Given the description of an element on the screen output the (x, y) to click on. 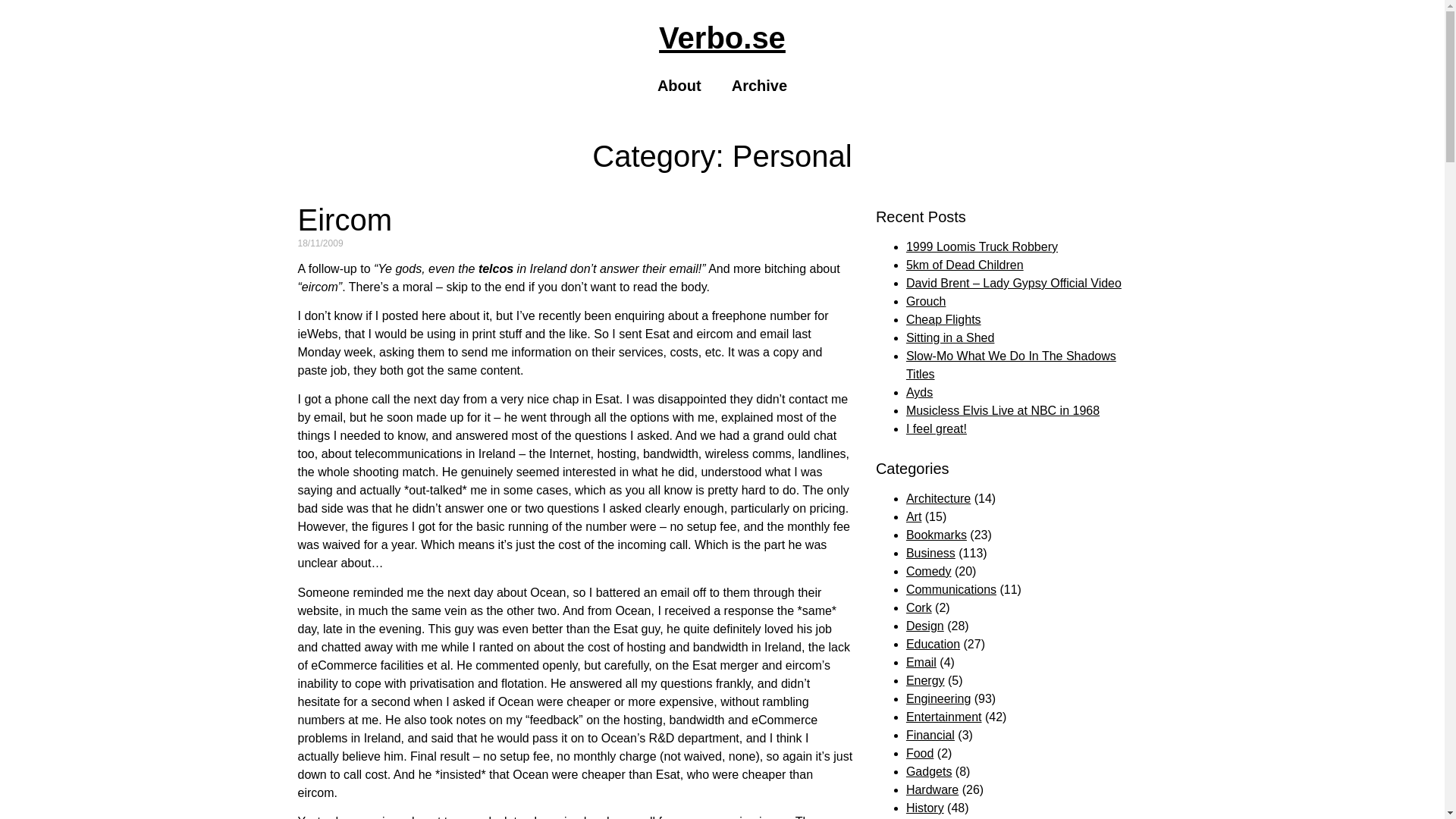
Eircom (344, 219)
5km of Dead Children (964, 264)
1999 Loomis Truck Robbery (981, 246)
Verbo.se (722, 37)
Archive (759, 85)
About (679, 85)
